Given the description of an element on the screen output the (x, y) to click on. 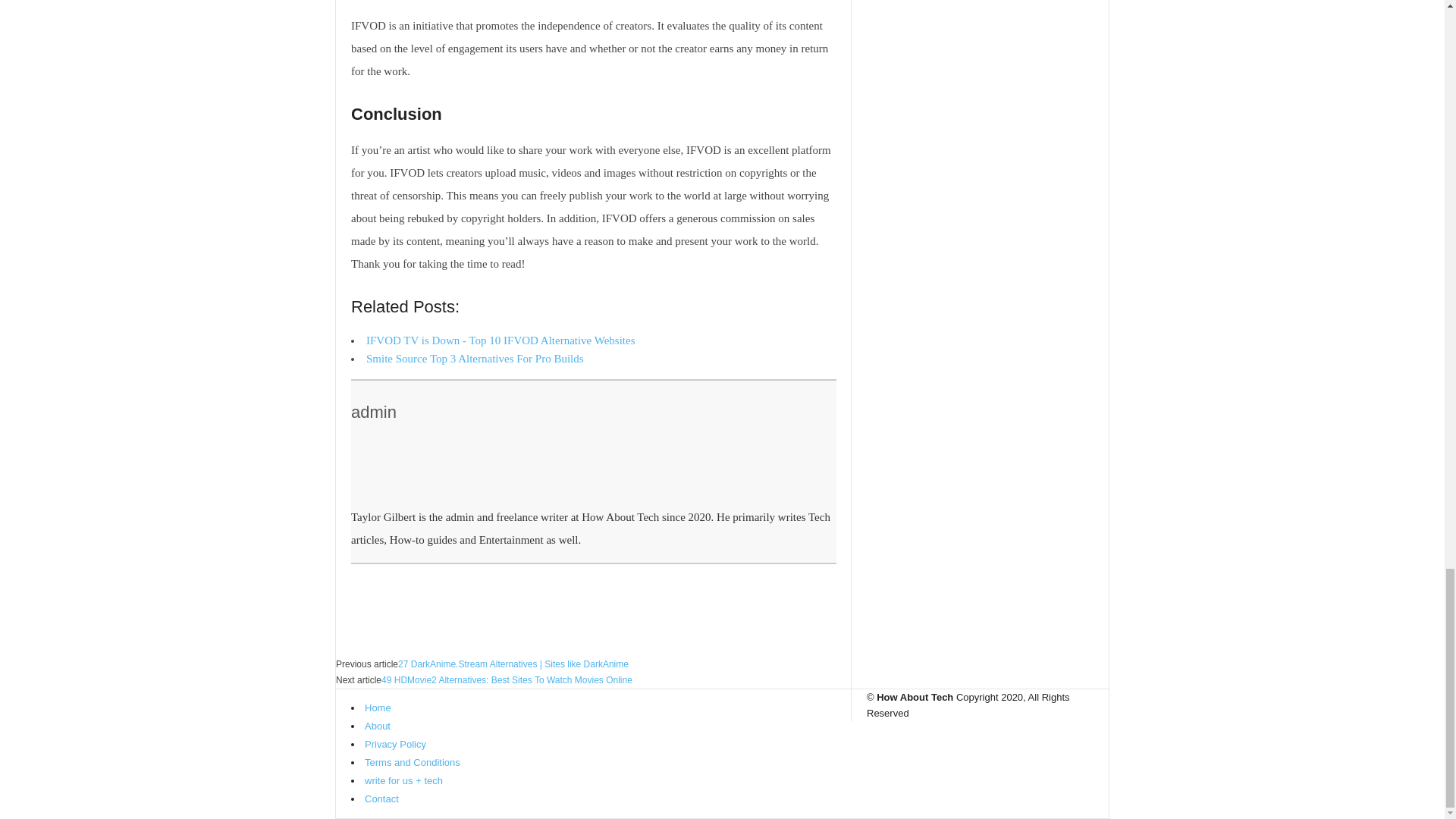
Smite Source Top 3 Alternatives For Pro Builds (474, 358)
IFVOD TV is Down - Top 10 IFVOD Alternative Websites (500, 340)
All posts by admin (373, 411)
admin (373, 411)
